Given the description of an element on the screen output the (x, y) to click on. 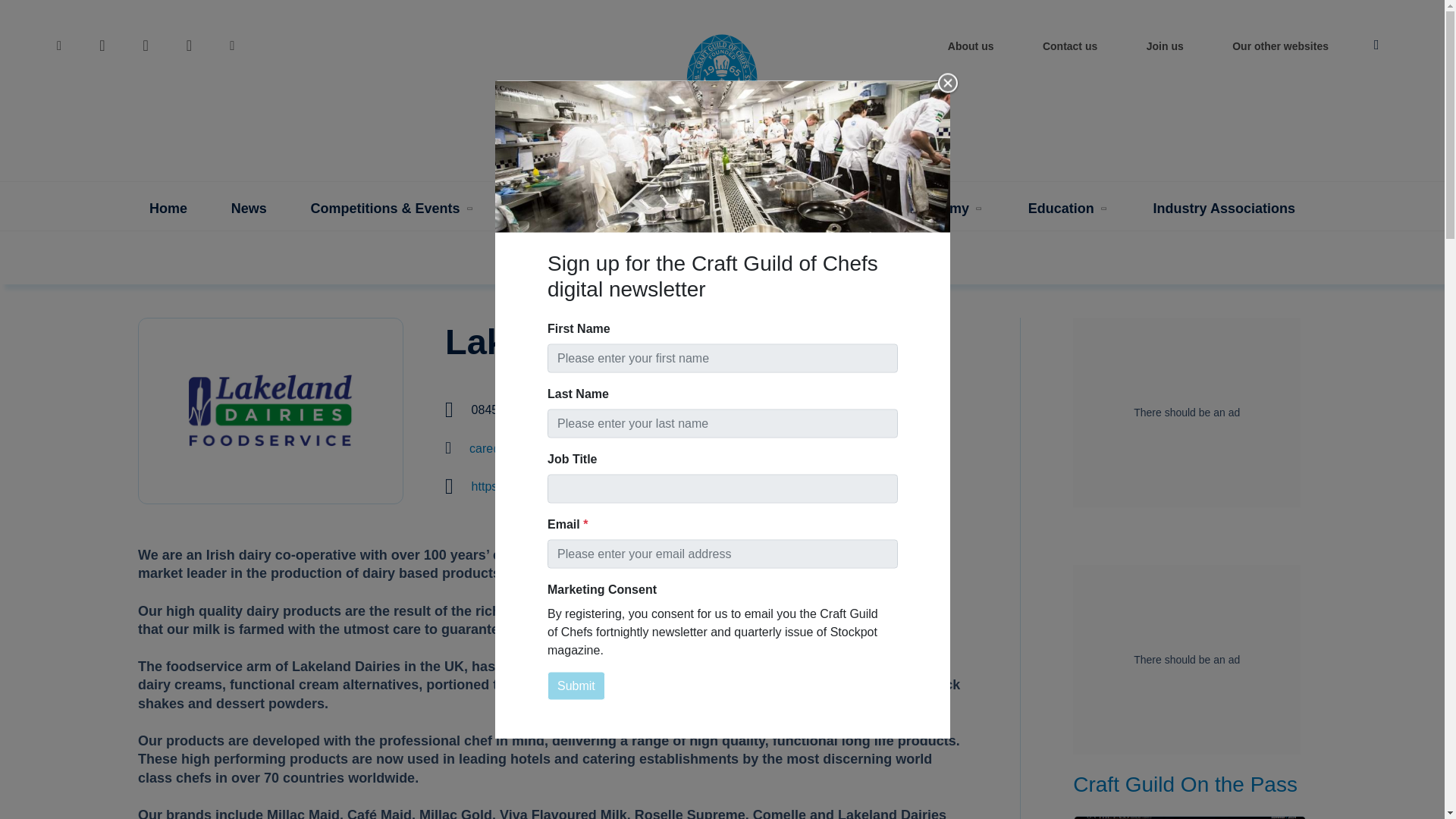
Diary (542, 208)
Our other websites (1280, 50)
About us (970, 50)
Contact us (1070, 50)
3rd party ad content (1186, 411)
Search (6, 6)
Join us (1164, 50)
3rd party ad content (1186, 659)
